Given the description of an element on the screen output the (x, y) to click on. 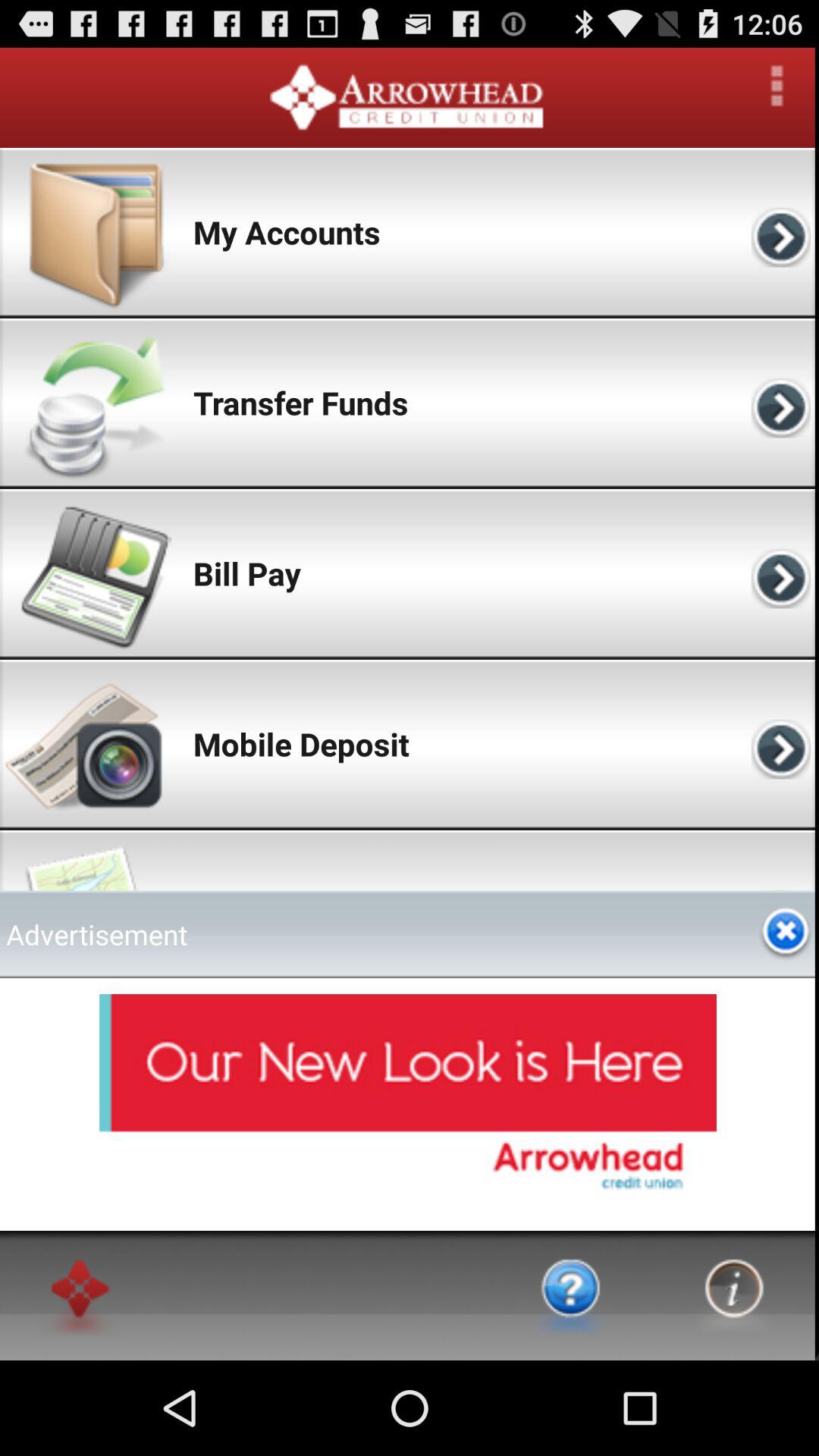
options button (776, 85)
